Given the description of an element on the screen output the (x, y) to click on. 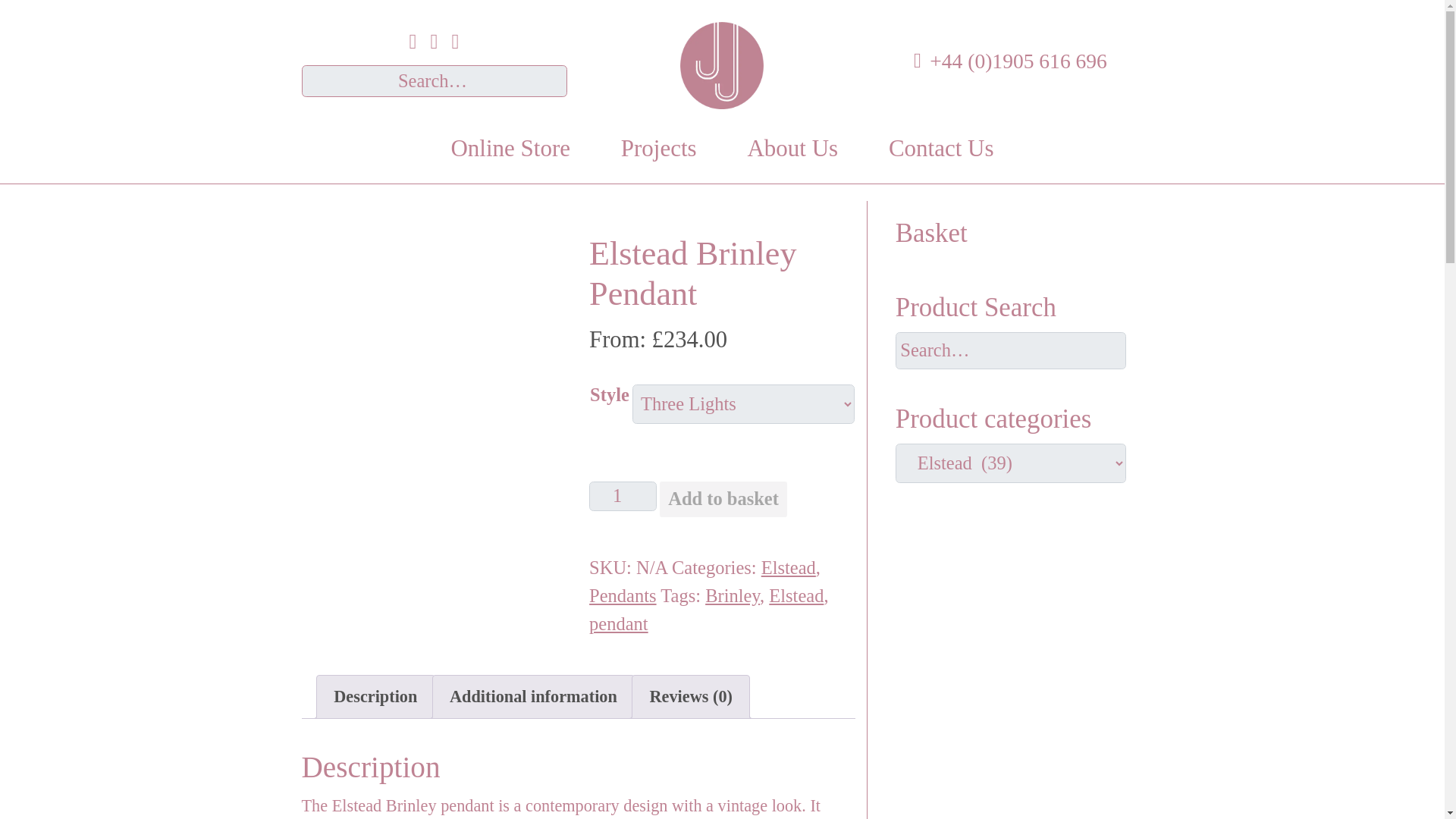
About Us (791, 149)
Description (374, 696)
Online Store (510, 149)
Brinley (732, 595)
About Us (791, 149)
Contact Us (941, 149)
Additional information (533, 696)
Add to basket (723, 498)
Elstead (796, 595)
